Given the description of an element on the screen output the (x, y) to click on. 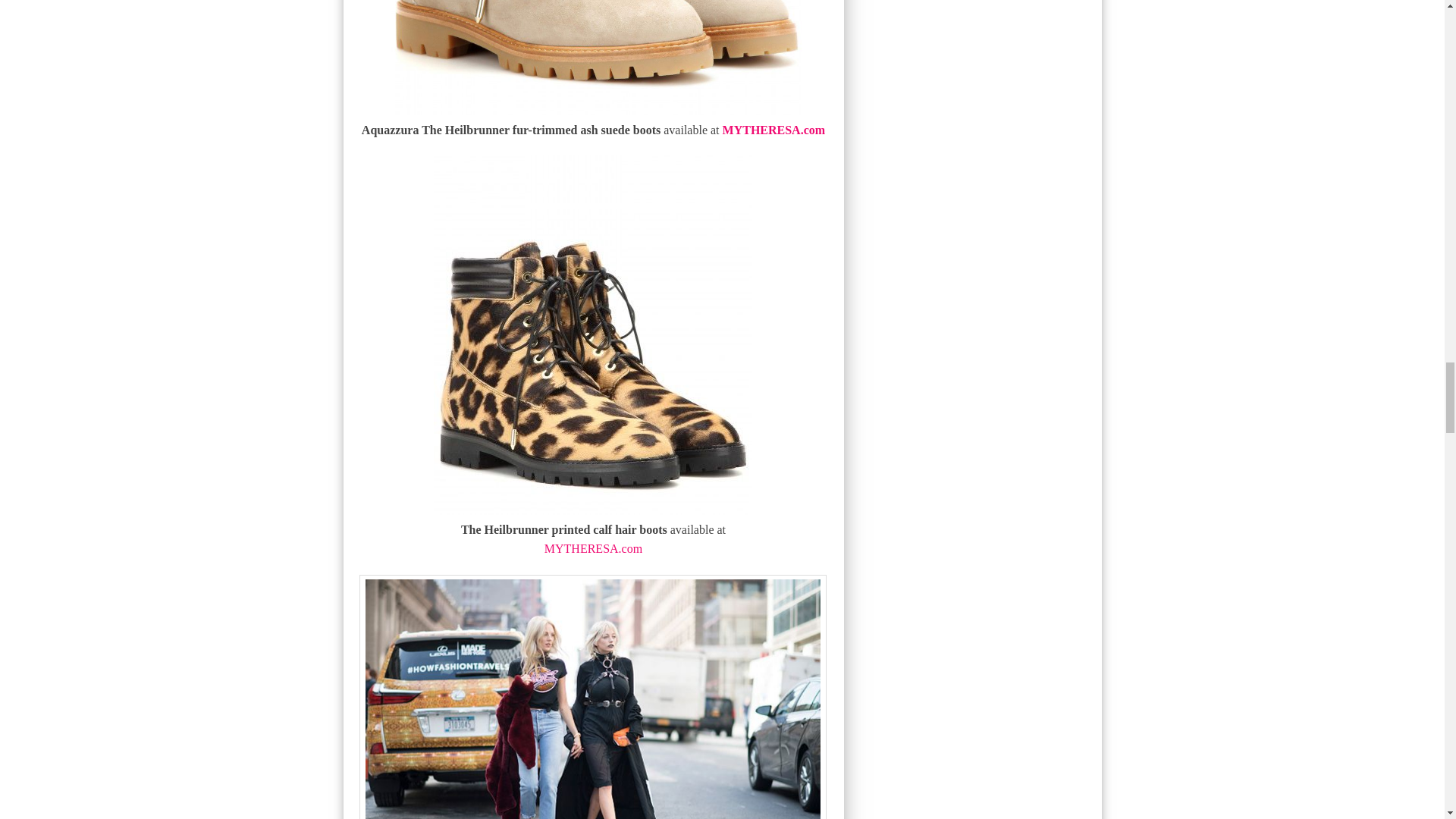
NYFW Spring 2017 bloggers Instagram looks to shop now (593, 699)
